Given the description of an element on the screen output the (x, y) to click on. 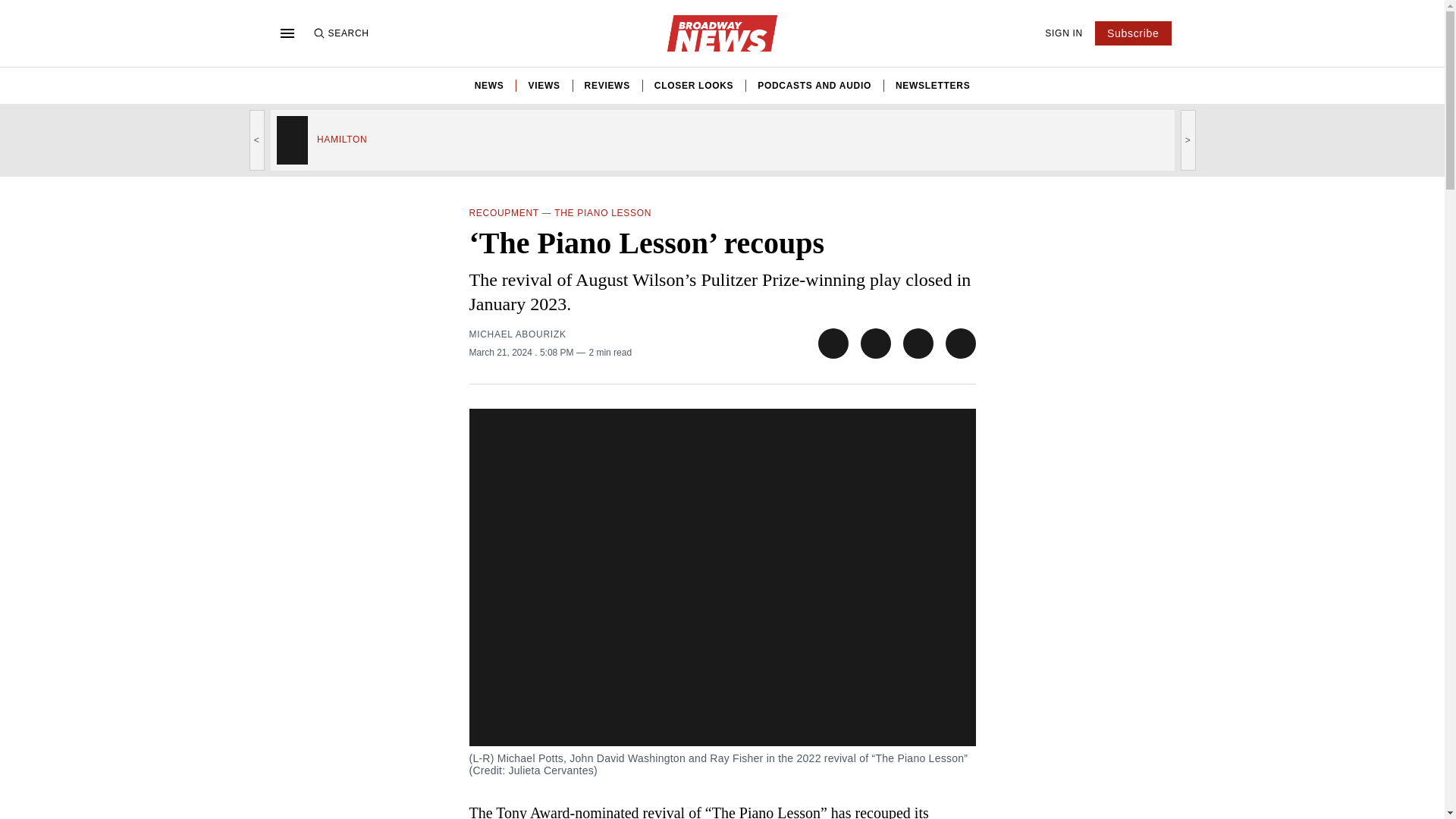
NEWS (488, 85)
SIGN IN (1064, 33)
SEARCH (340, 33)
VIEWS (543, 85)
Subscribe (1133, 33)
PODCASTS AND AUDIO (813, 85)
NEWSLETTERS (932, 85)
REVIEWS (607, 85)
CLOSER LOOKS (693, 85)
